Given the description of an element on the screen output the (x, y) to click on. 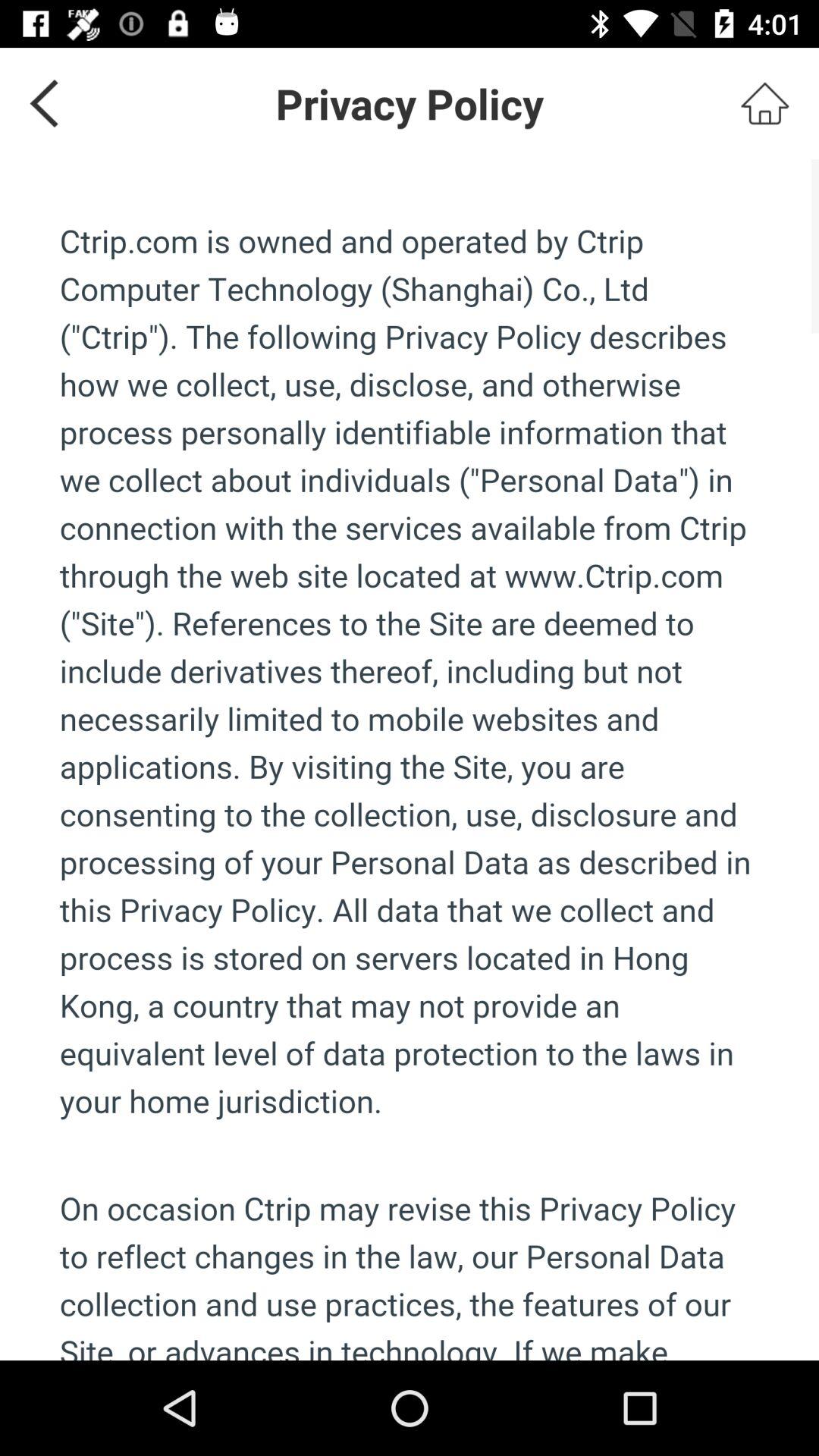
home button (764, 103)
